Given the description of an element on the screen output the (x, y) to click on. 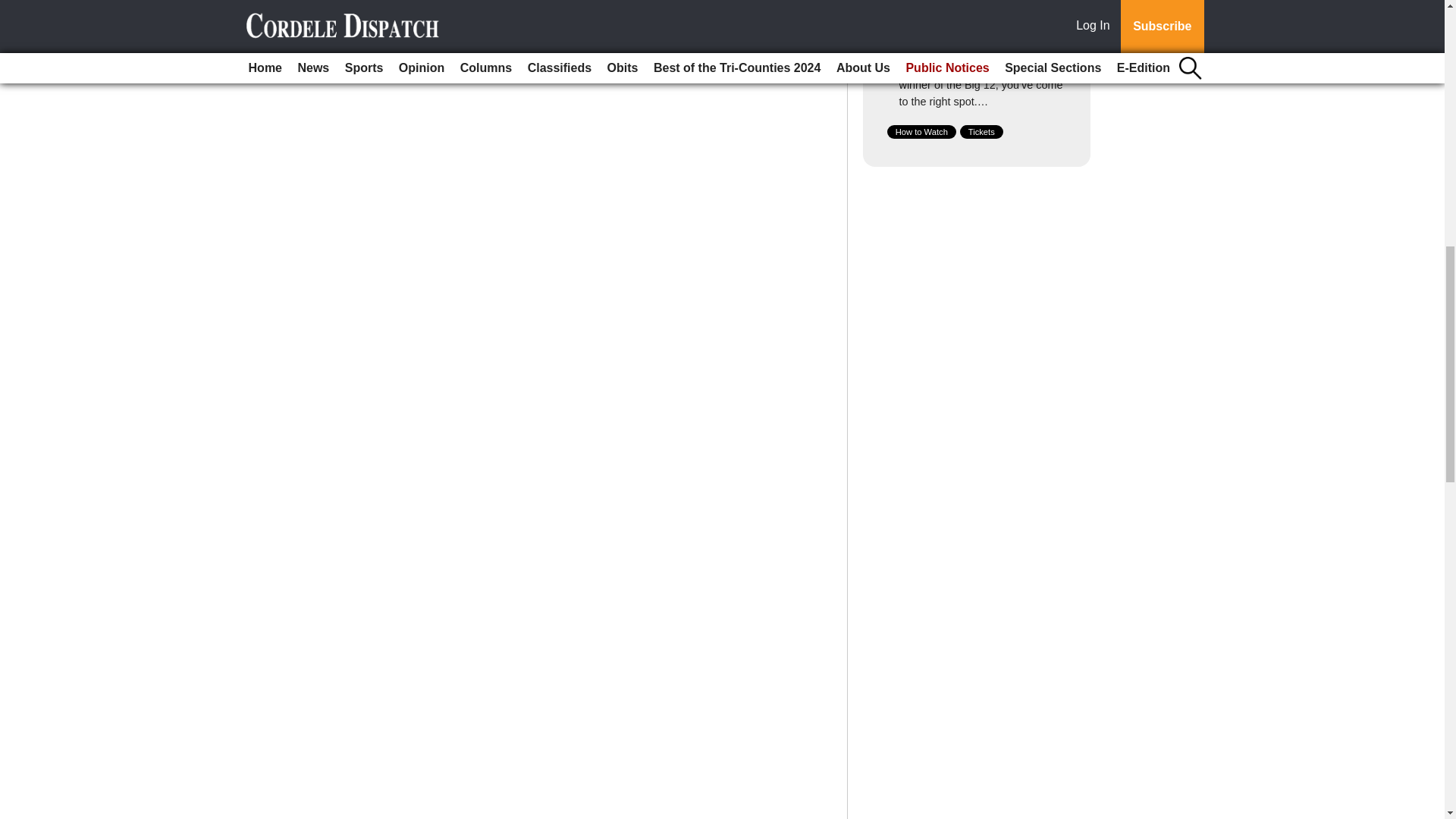
Tickets (981, 131)
How to Watch (921, 131)
